Given the description of an element on the screen output the (x, y) to click on. 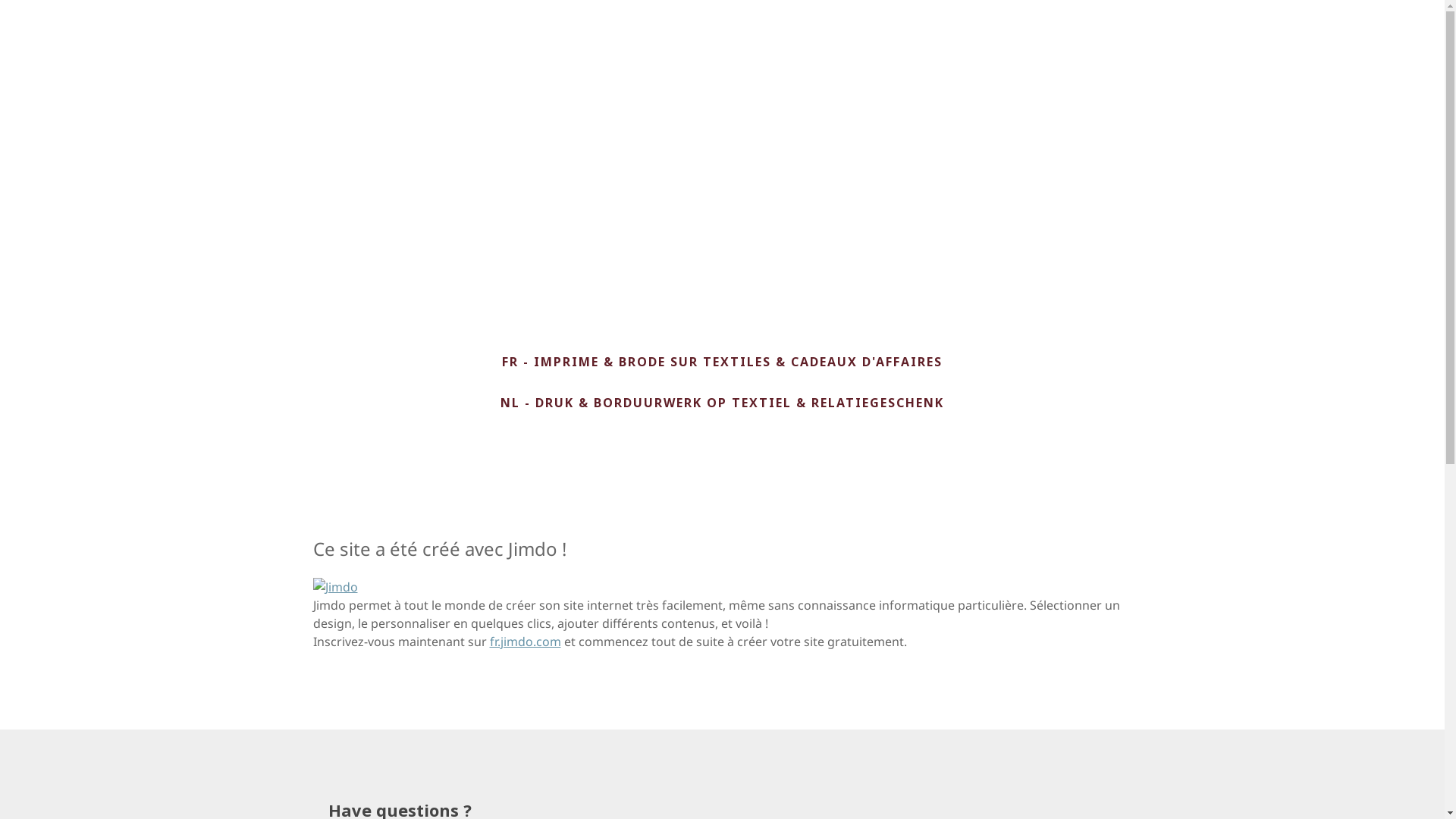
NL - DRUK & BORDUURWERK OP TEXTIEL & RELATIEGESCHENK Element type: text (722, 402)
fr.jimdo.com Element type: text (525, 641)
FR - IMPRIME & BRODE SUR TEXTILES & CADEAUX D'AFFAIRES Element type: text (721, 361)
Jimdo Element type: hover (334, 586)
